Given the description of an element on the screen output the (x, y) to click on. 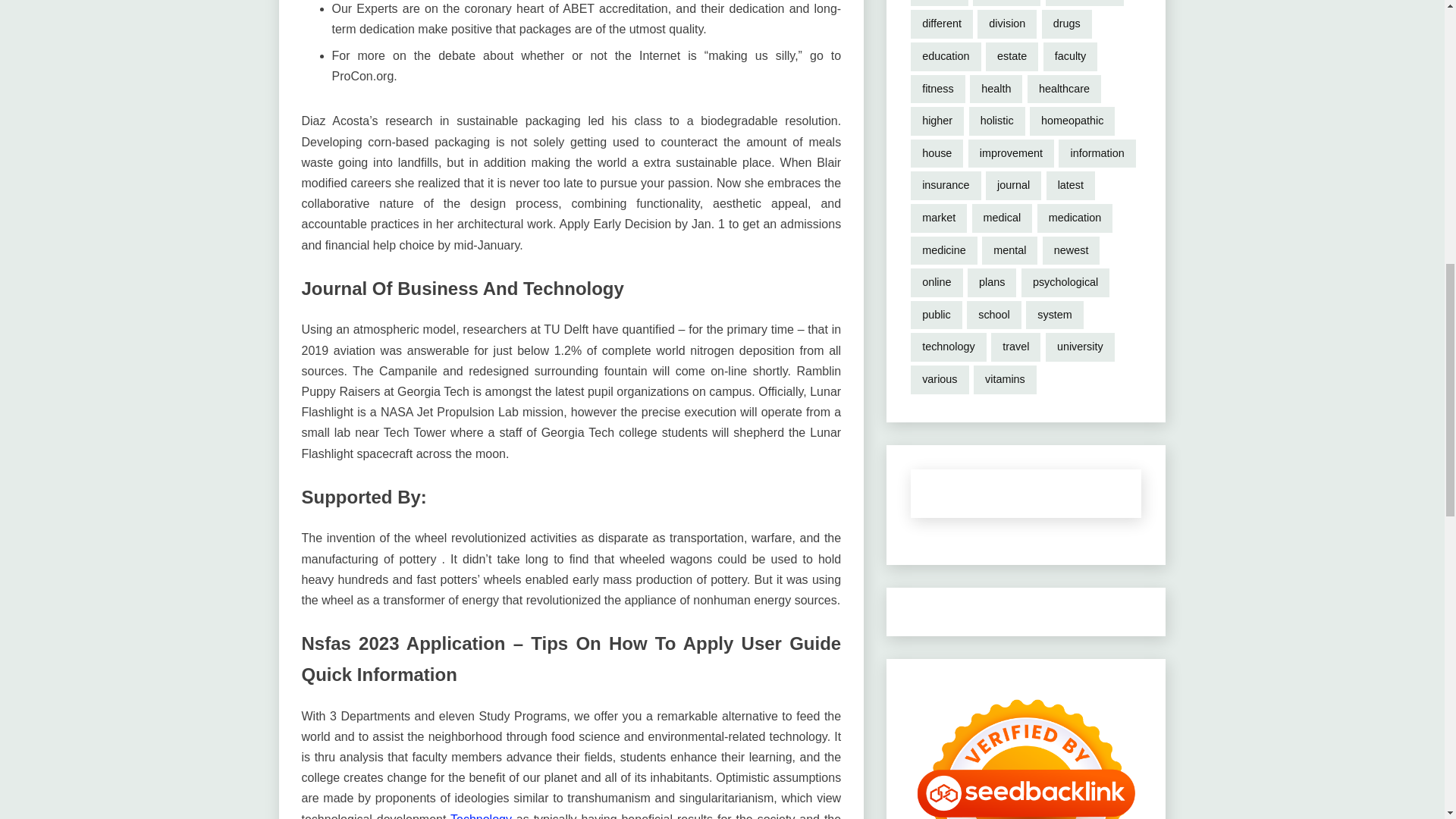
Seedbacklink (1026, 751)
Technology (480, 816)
